Given the description of an element on the screen output the (x, y) to click on. 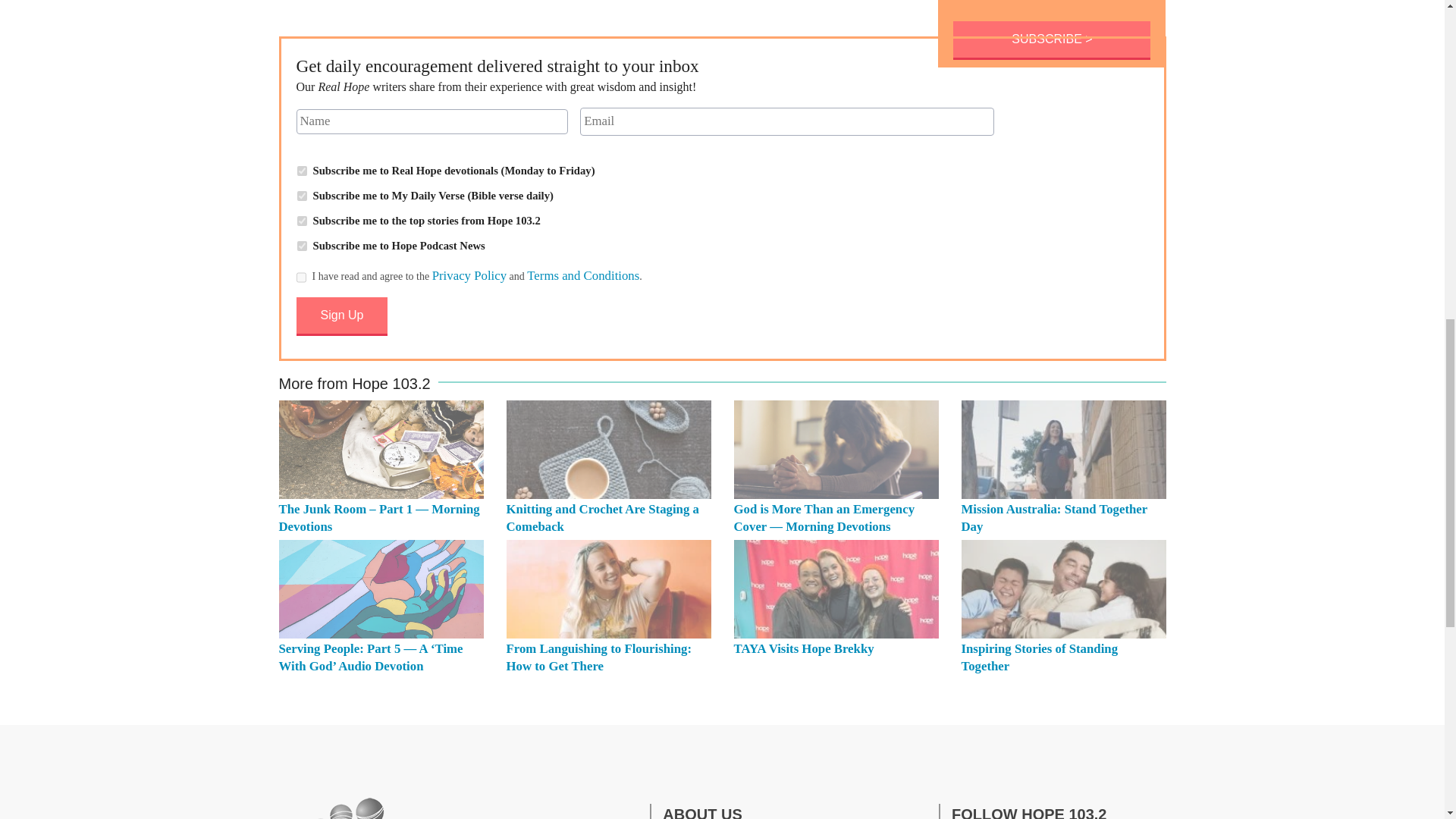
Sign Up (341, 316)
Knitting and Crochet Are Staging a Comeback (602, 517)
Mission Australia: Stand Together Day (1063, 449)
Knitting and Crochet Are Staging a Comeback (608, 449)
Mission Australia: Stand Together Day (1053, 517)
From Languishing to Flourishing: How to Get There (608, 588)
